Given the description of an element on the screen output the (x, y) to click on. 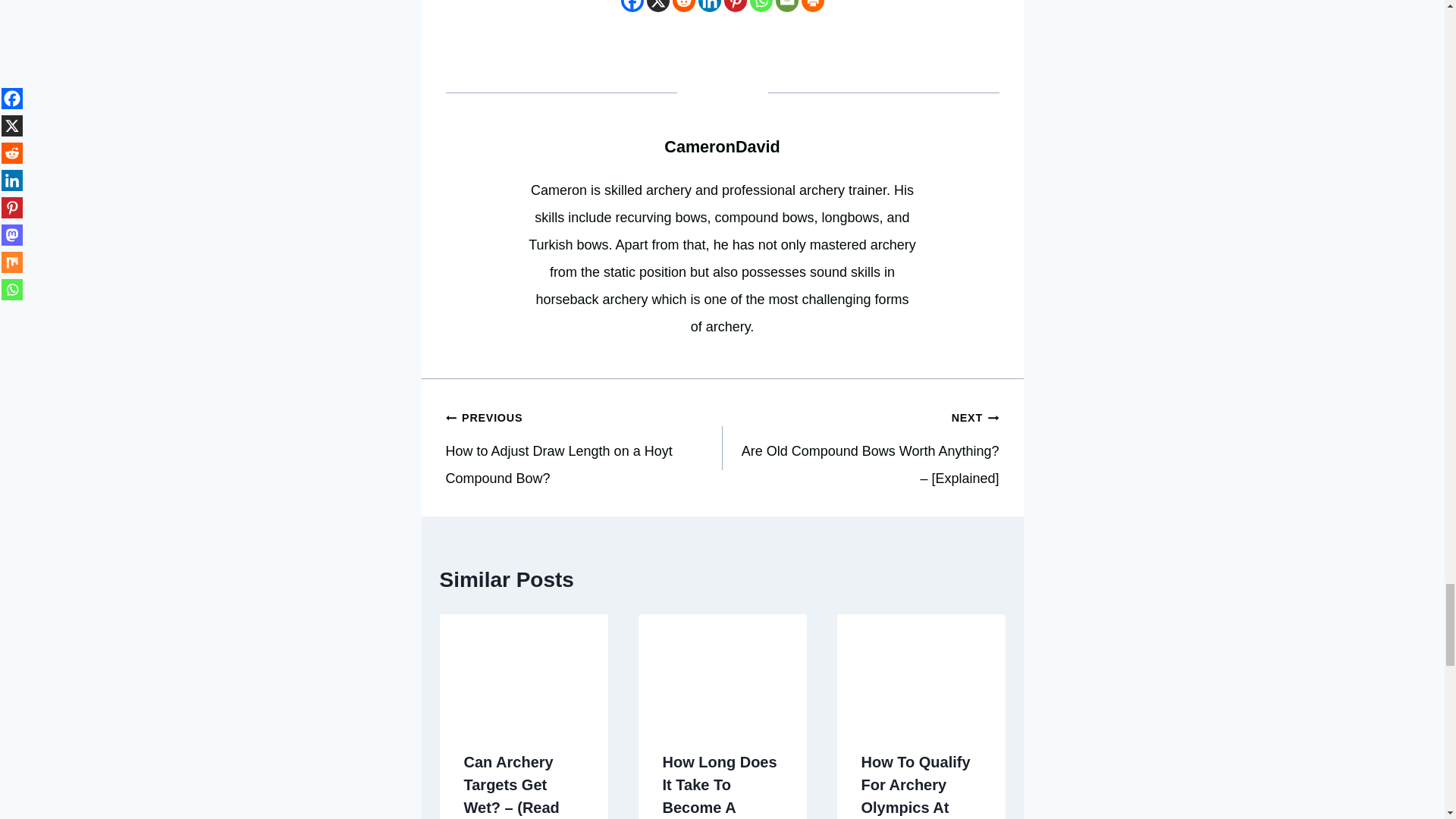
Linkedin (708, 6)
Whatsapp (760, 6)
X (657, 6)
Pinterest (734, 6)
Print (812, 6)
Reddit (682, 6)
Email (785, 6)
Facebook (631, 6)
